Given the description of an element on the screen output the (x, y) to click on. 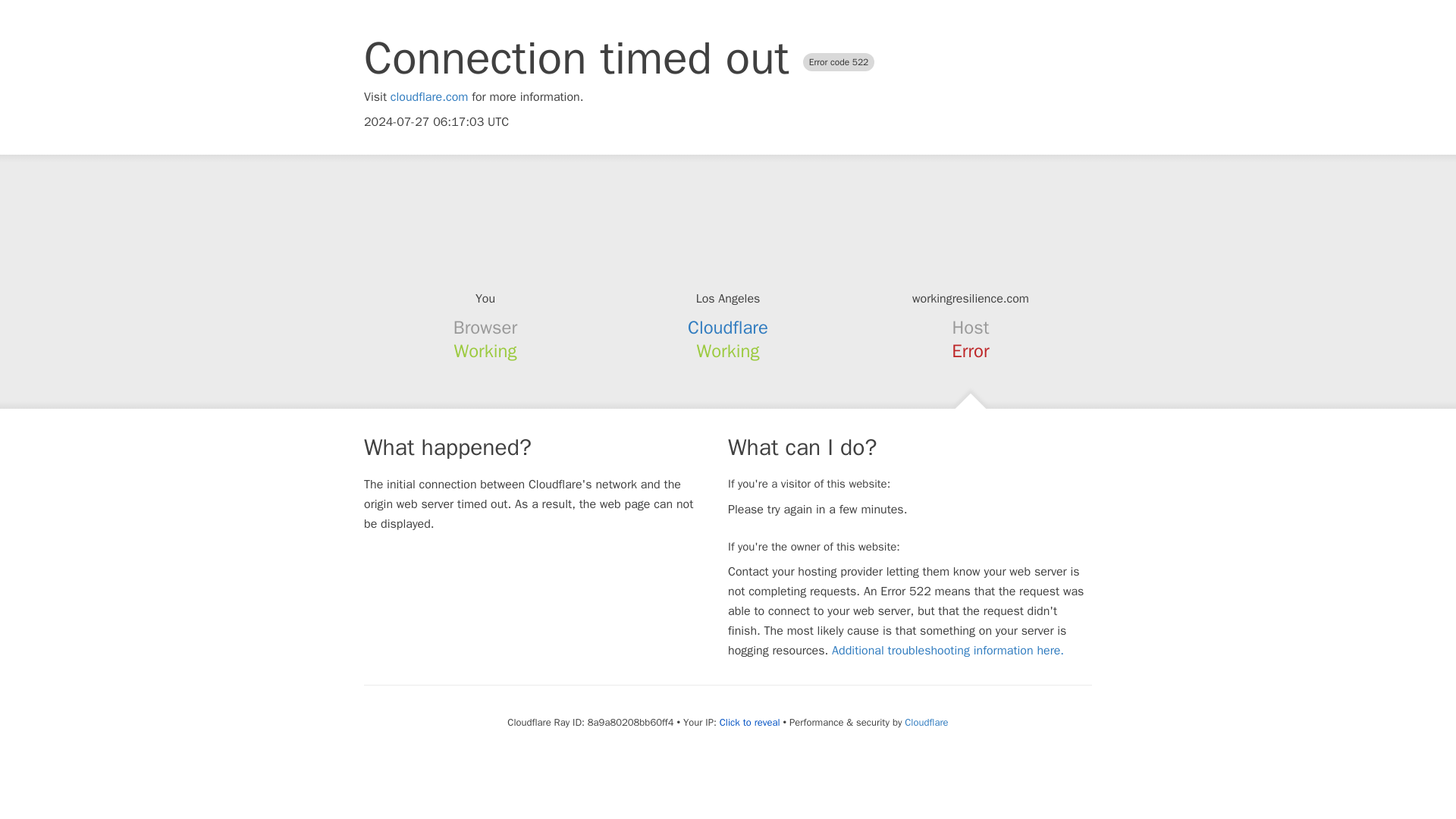
Cloudflare (727, 327)
cloudflare.com (429, 96)
Click to reveal (749, 722)
Additional troubleshooting information here. (947, 650)
Cloudflare (925, 721)
